Given the description of an element on the screen output the (x, y) to click on. 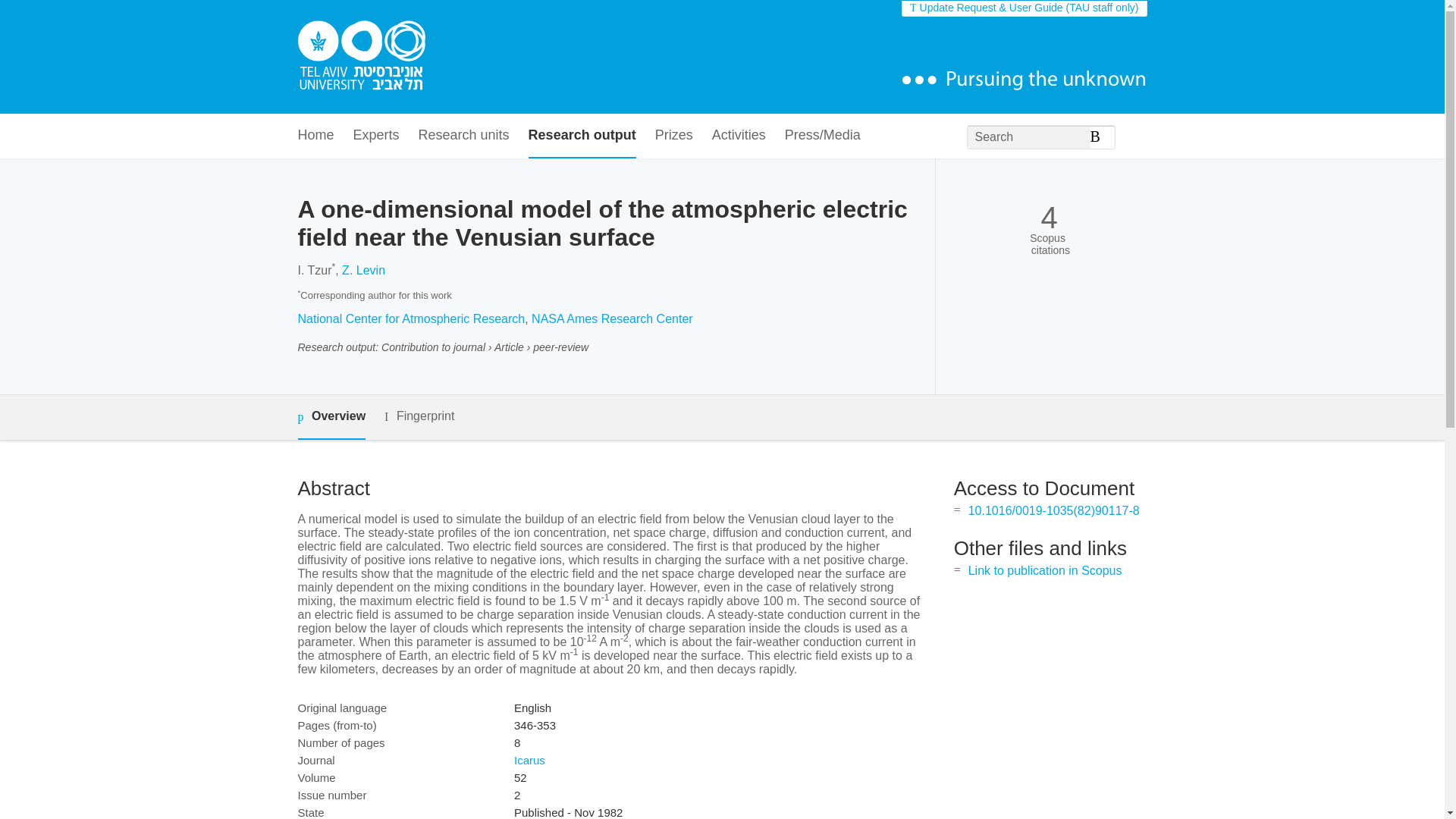
Overview (331, 416)
NASA Ames Research Center (612, 318)
Activities (738, 135)
Icarus (528, 759)
Research units (464, 135)
National Center for Atmospheric Research (410, 318)
Research output (582, 135)
Link to publication in Scopus (1045, 570)
Z. Levin (363, 269)
Tel Aviv University Home (361, 56)
Fingerprint (419, 416)
Experts (375, 135)
